Given the description of an element on the screen output the (x, y) to click on. 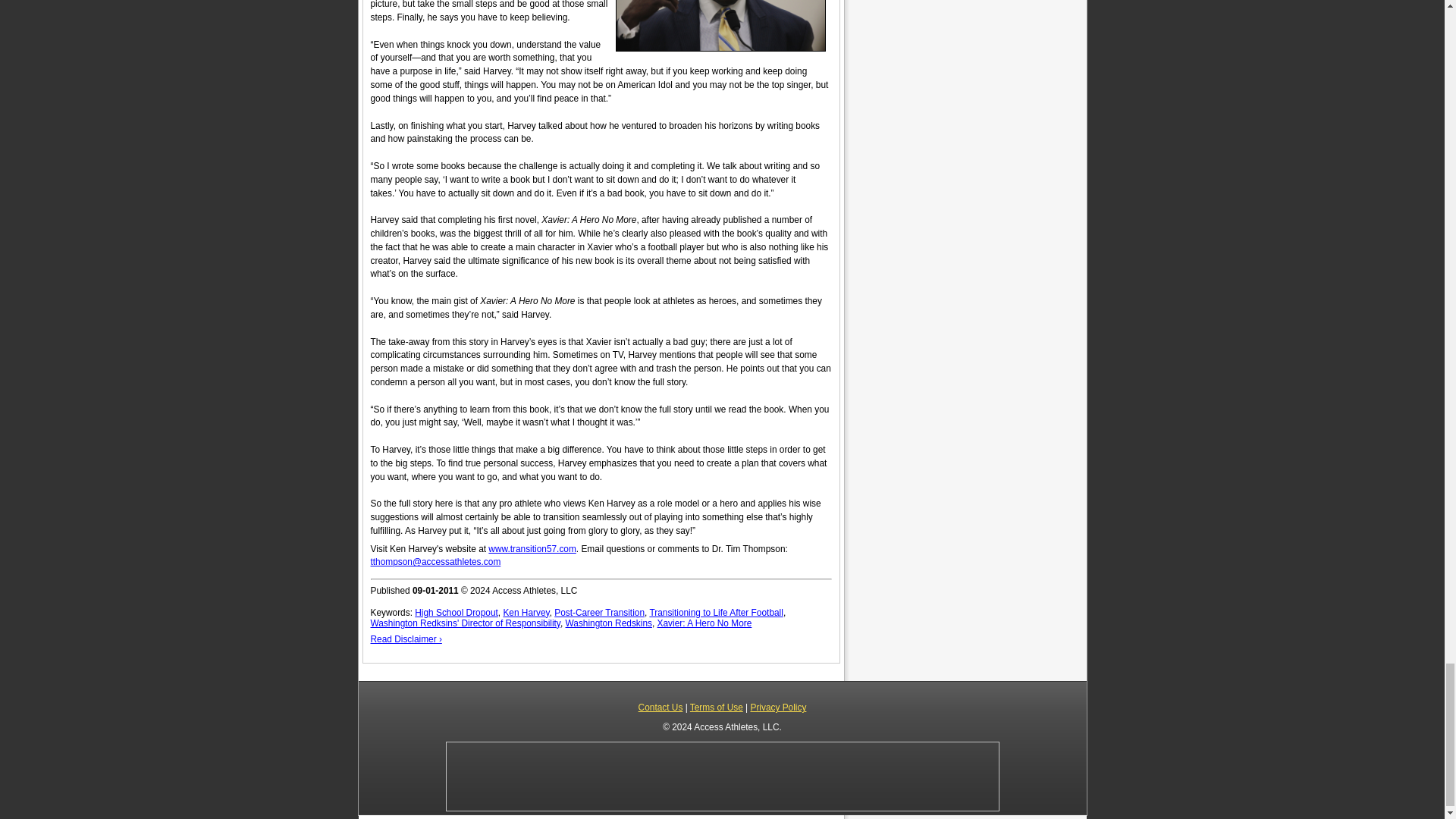
Transitioning to Life After Football (716, 612)
View more posts with keyword Post-Career Transition (599, 612)
View more posts with keyword Washington Redskins (609, 623)
Washington Redksins' Director of Responsibility (464, 623)
Post-Career Transition (599, 612)
www.transition57.com (531, 548)
Xavier: A Hero No More (705, 623)
View more posts with keyword Xavier: A Hero No More (705, 623)
View more posts with keyword High School Dropout (455, 612)
View more posts with keyword Ken Harvey (525, 612)
Ken Harvey (525, 612)
Washington Redskins (609, 623)
